Given the description of an element on the screen output the (x, y) to click on. 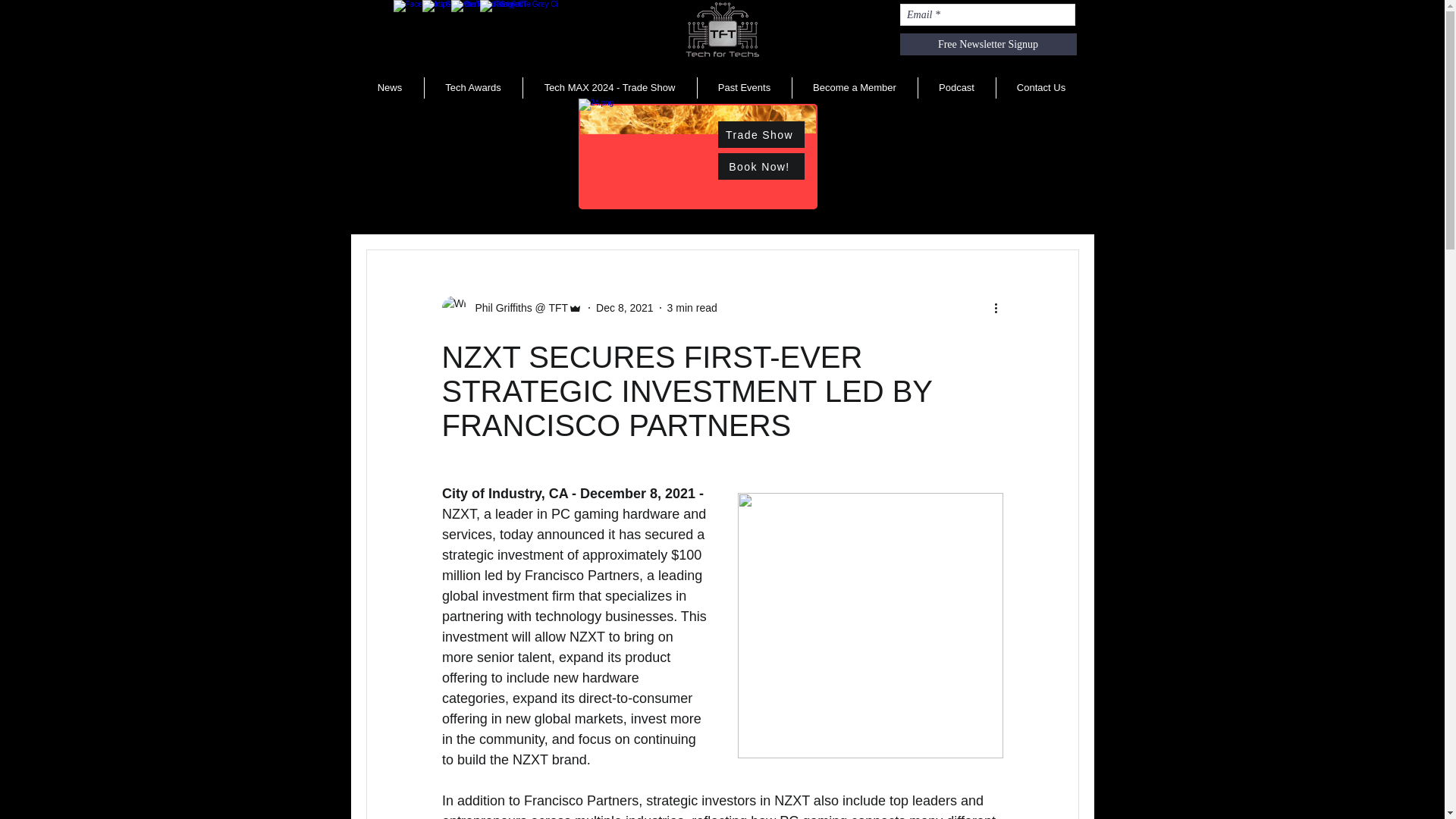
Past Events (742, 87)
Become a Member (854, 87)
Tech MAX 2024 - Trade Show (608, 87)
Trade Show (760, 134)
Dec 8, 2021 (624, 307)
News (389, 87)
Tech Awards (472, 87)
3 min read (691, 307)
Book Now! (760, 166)
Podcast (956, 87)
Free Newsletter Signup (987, 44)
Contact Us (1040, 87)
